Given the description of an element on the screen output the (x, y) to click on. 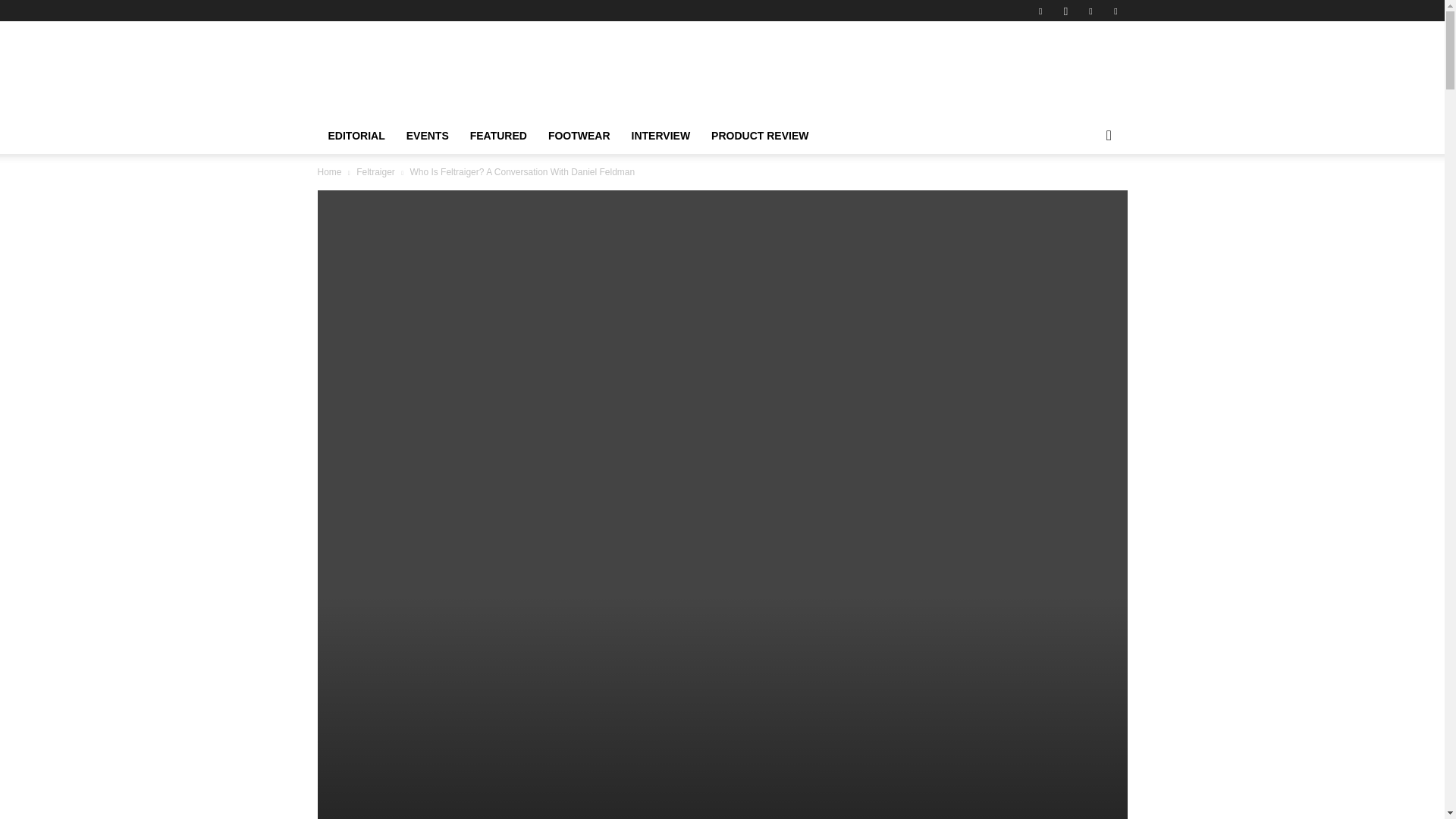
Instagram (1065, 10)
FOOTWEAR (579, 135)
Feltraiger (375, 172)
View all posts in Feltraiger (375, 172)
INTERVIEW (661, 135)
Search (1085, 196)
Pinterest (1090, 10)
Twitter (1114, 10)
FEATURED (498, 135)
EDITORIAL (355, 135)
